Given the description of an element on the screen output the (x, y) to click on. 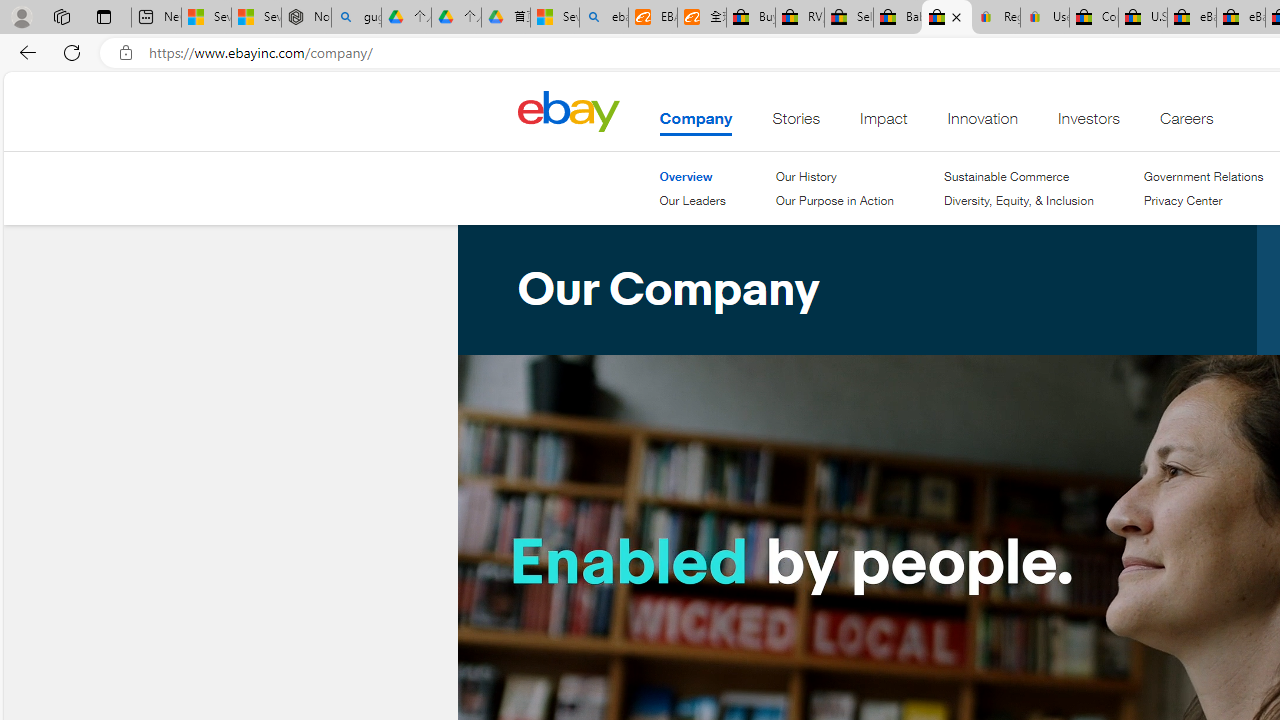
Our Purpose in Action (833, 201)
Company (696, 123)
Consumer Health Data Privacy Policy - eBay Inc. (1093, 17)
eBay Inc. Reports Third Quarter 2023 Results (1240, 17)
Class: desktop (568, 110)
Register: Create a personal eBay account (995, 17)
